Given the description of an element on the screen output the (x, y) to click on. 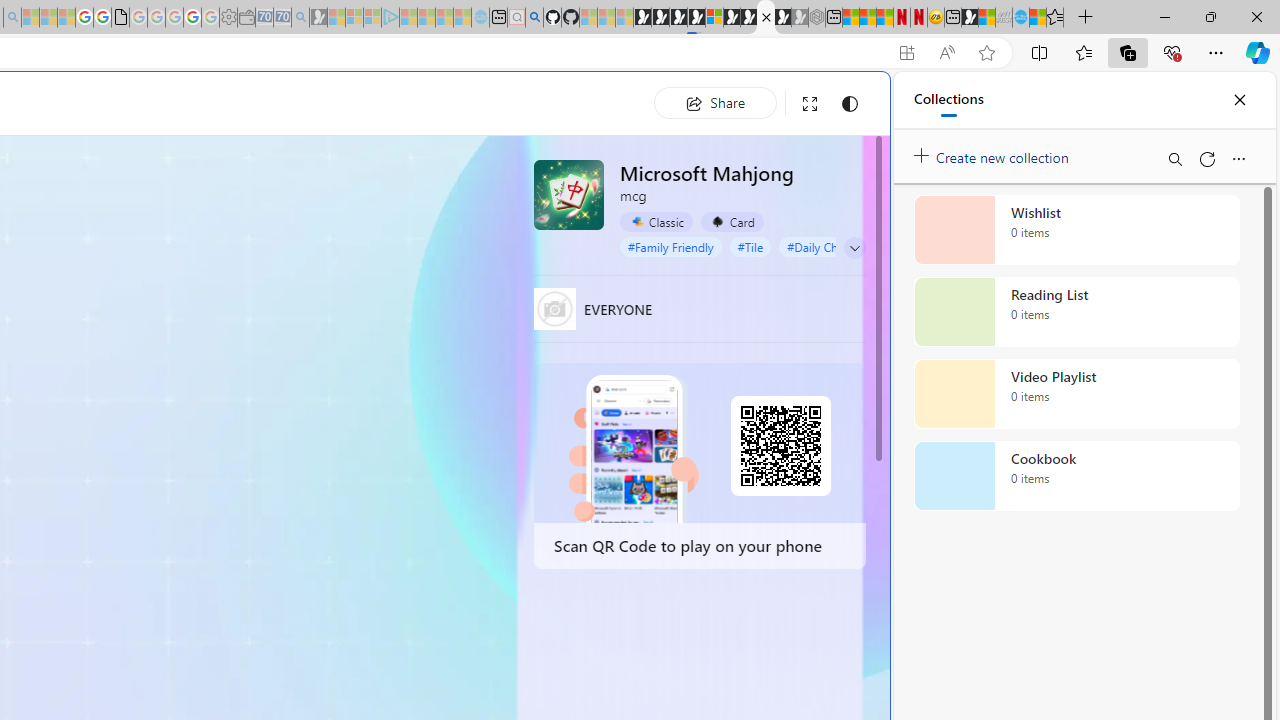
Full screen (810, 103)
Sign in to your account (714, 17)
Classic (656, 221)
